Given the description of an element on the screen output the (x, y) to click on. 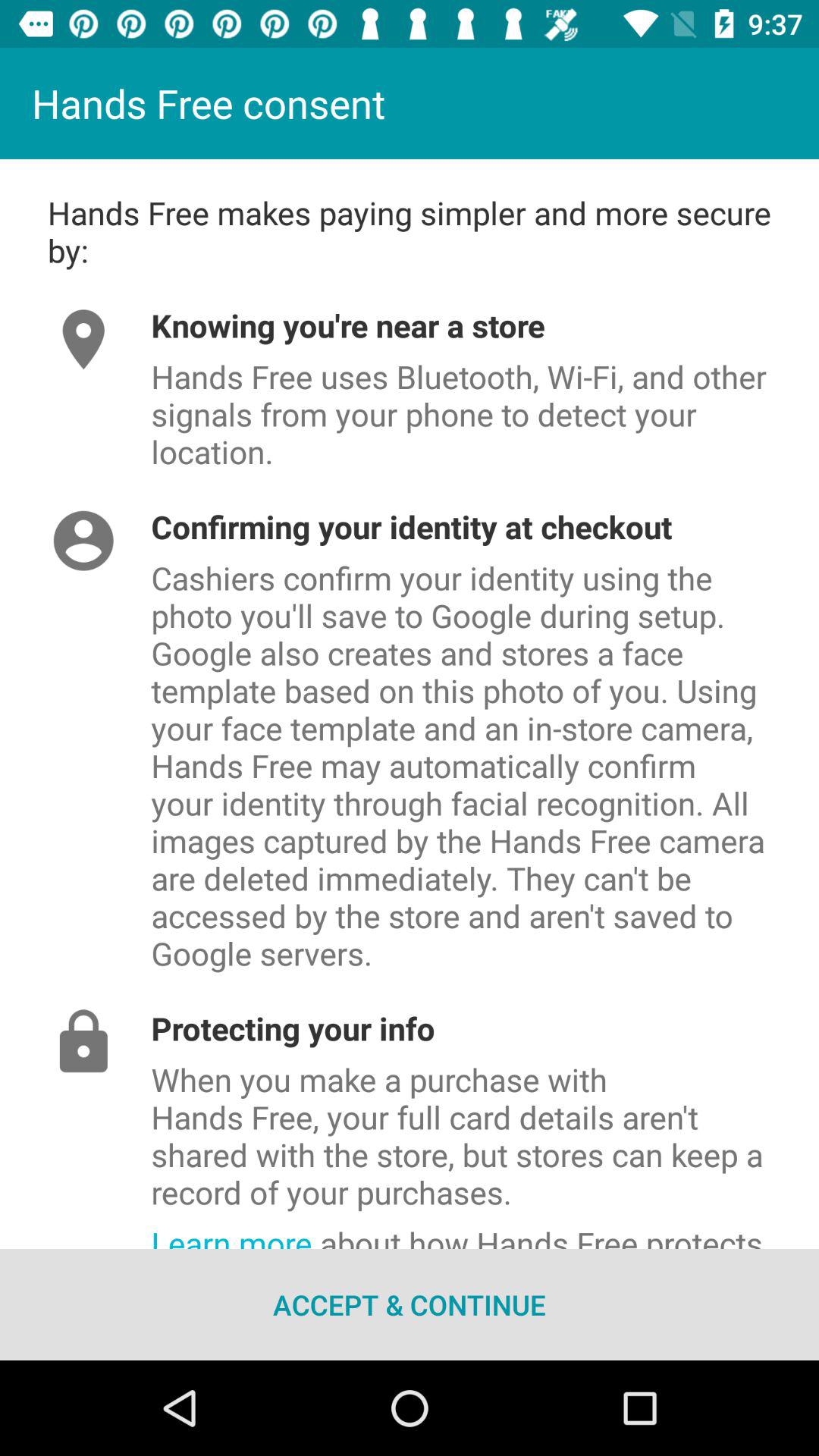
press learn more about icon (485, 1230)
